Given the description of an element on the screen output the (x, y) to click on. 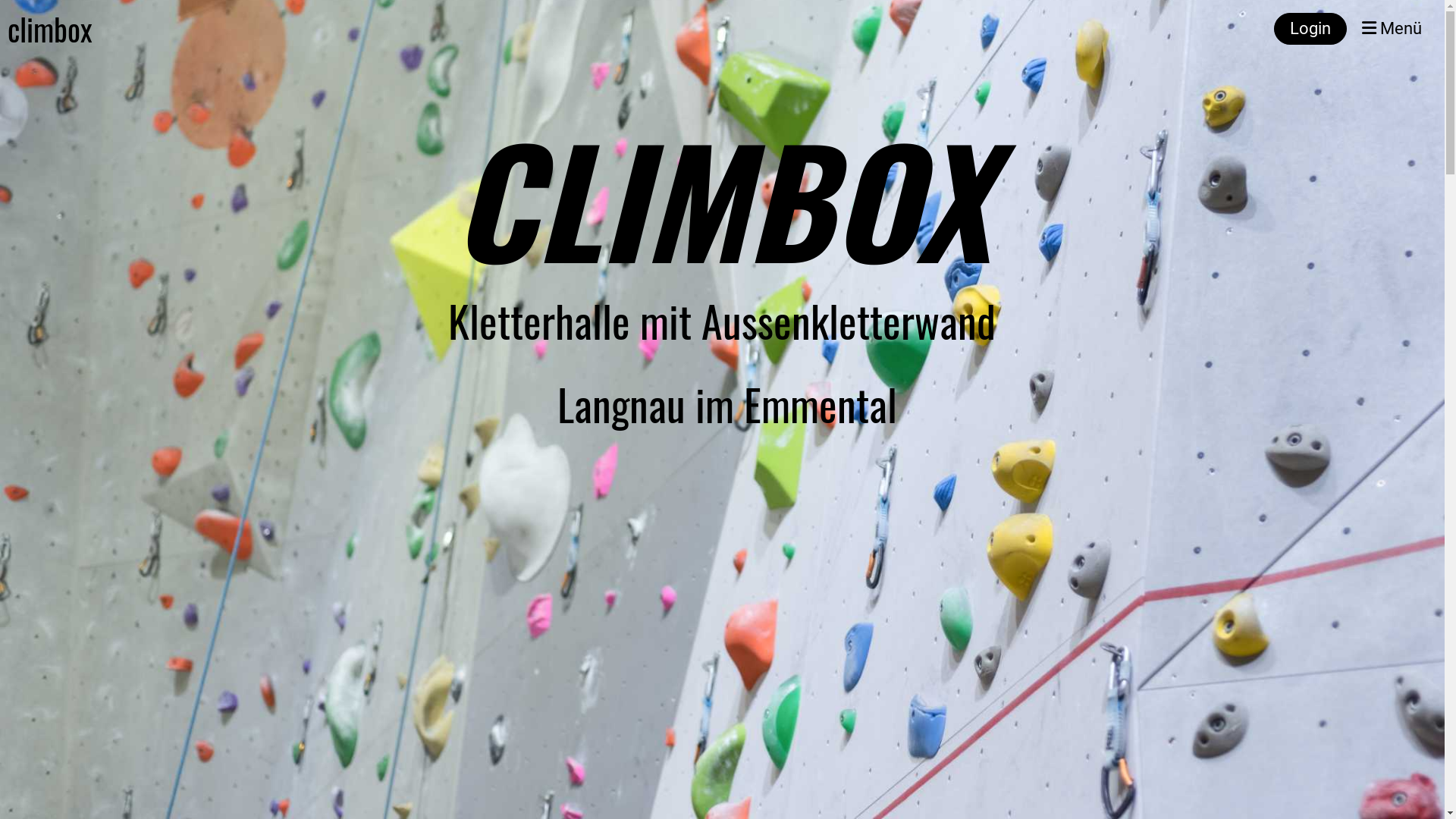
Login Element type: text (1310, 28)
climbox Element type: text (49, 28)
